Given the description of an element on the screen output the (x, y) to click on. 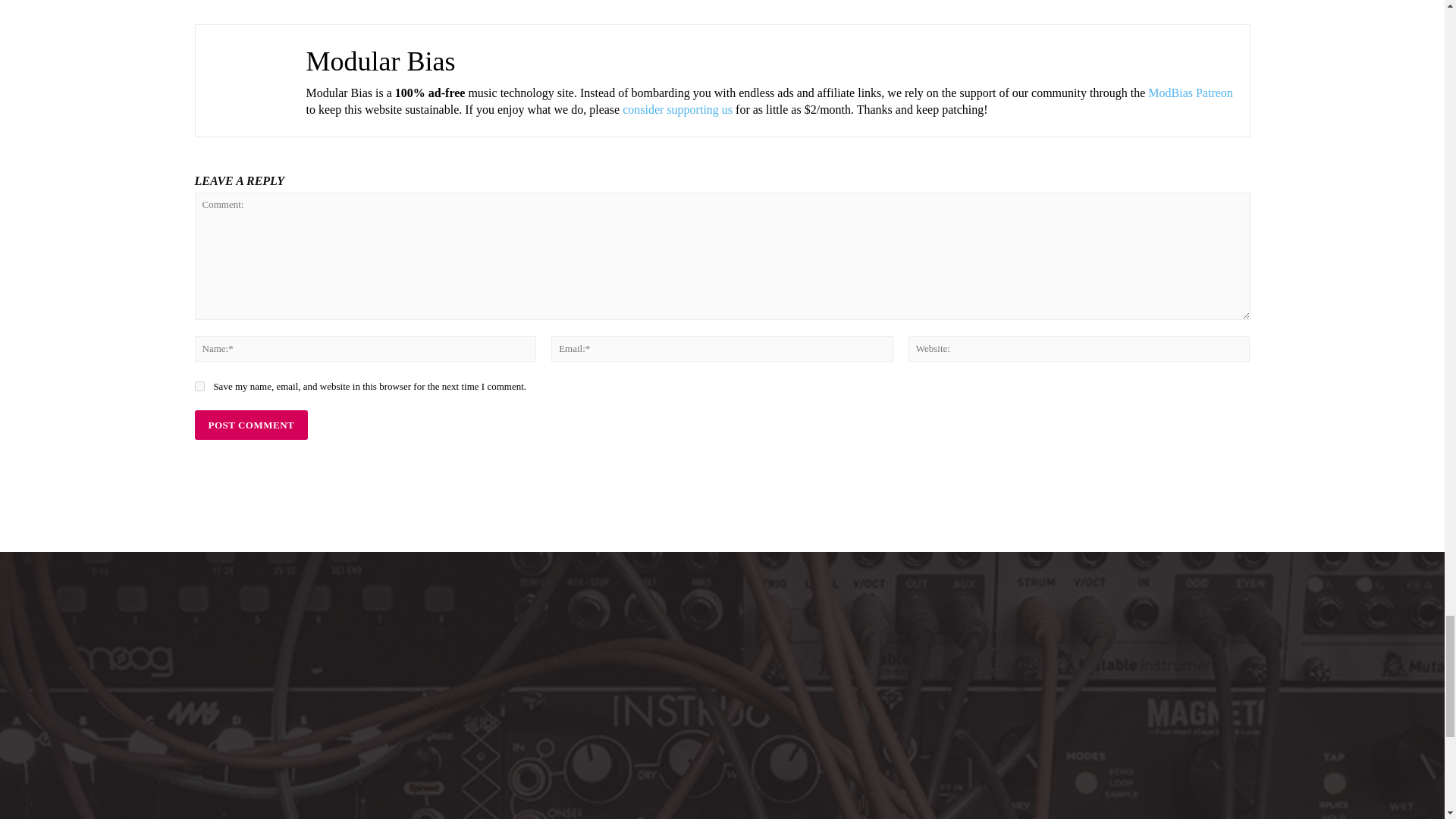
Post Comment (250, 424)
yes (198, 386)
